Given the description of an element on the screen output the (x, y) to click on. 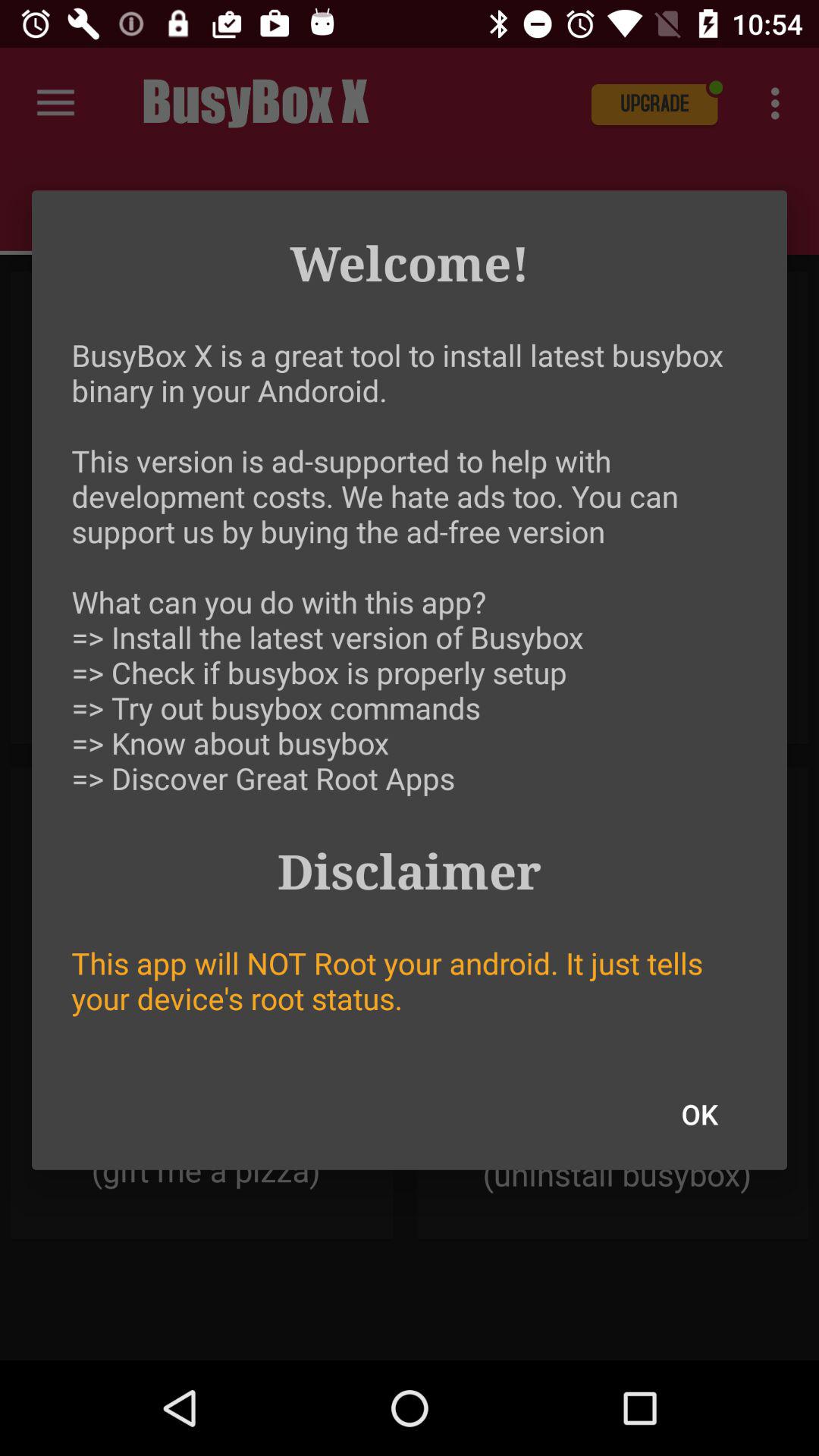
click item below this app will icon (699, 1113)
